Given the description of an element on the screen output the (x, y) to click on. 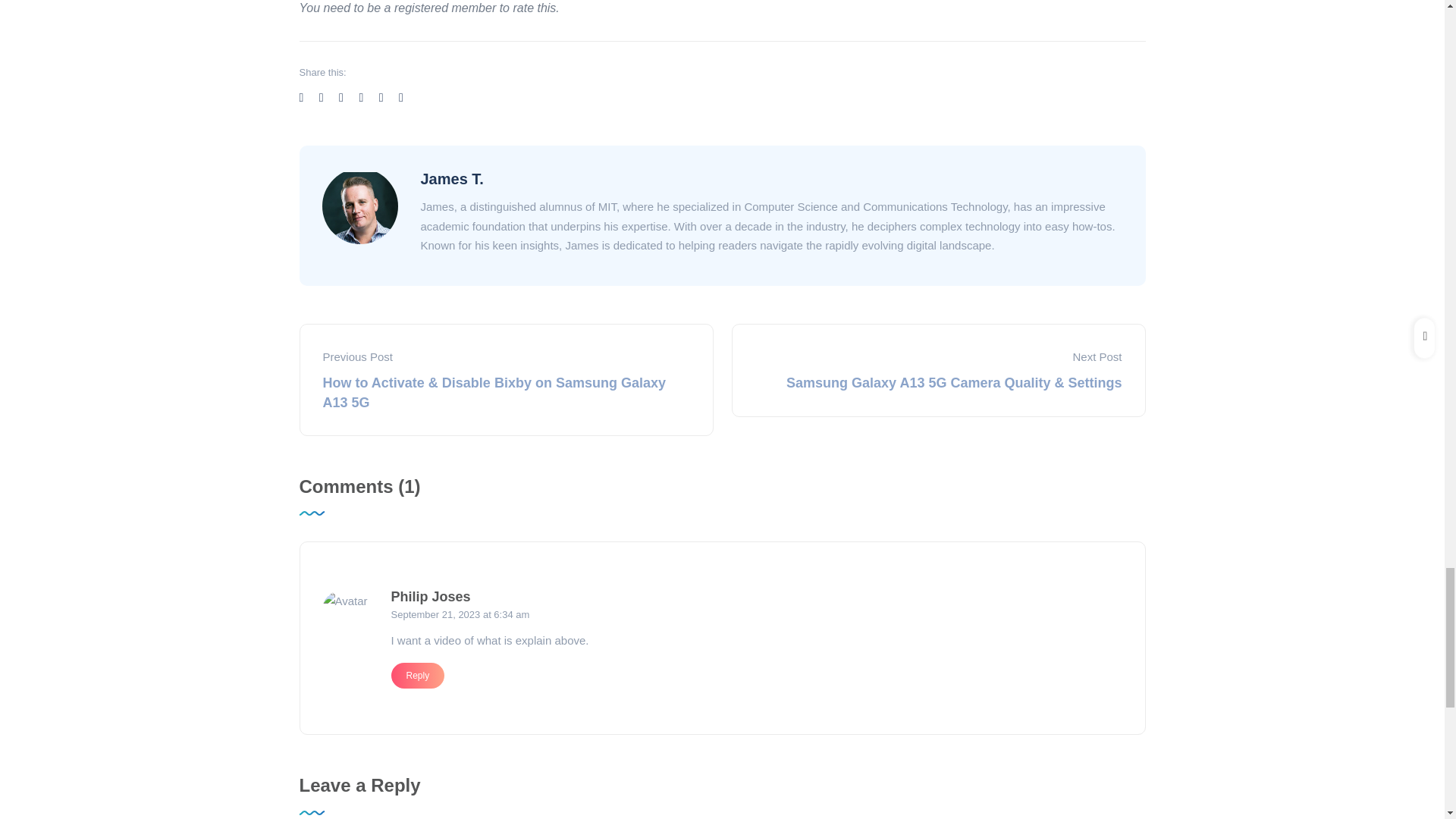
September 21, 2023 at 6:34 am (756, 614)
